Given the description of an element on the screen output the (x, y) to click on. 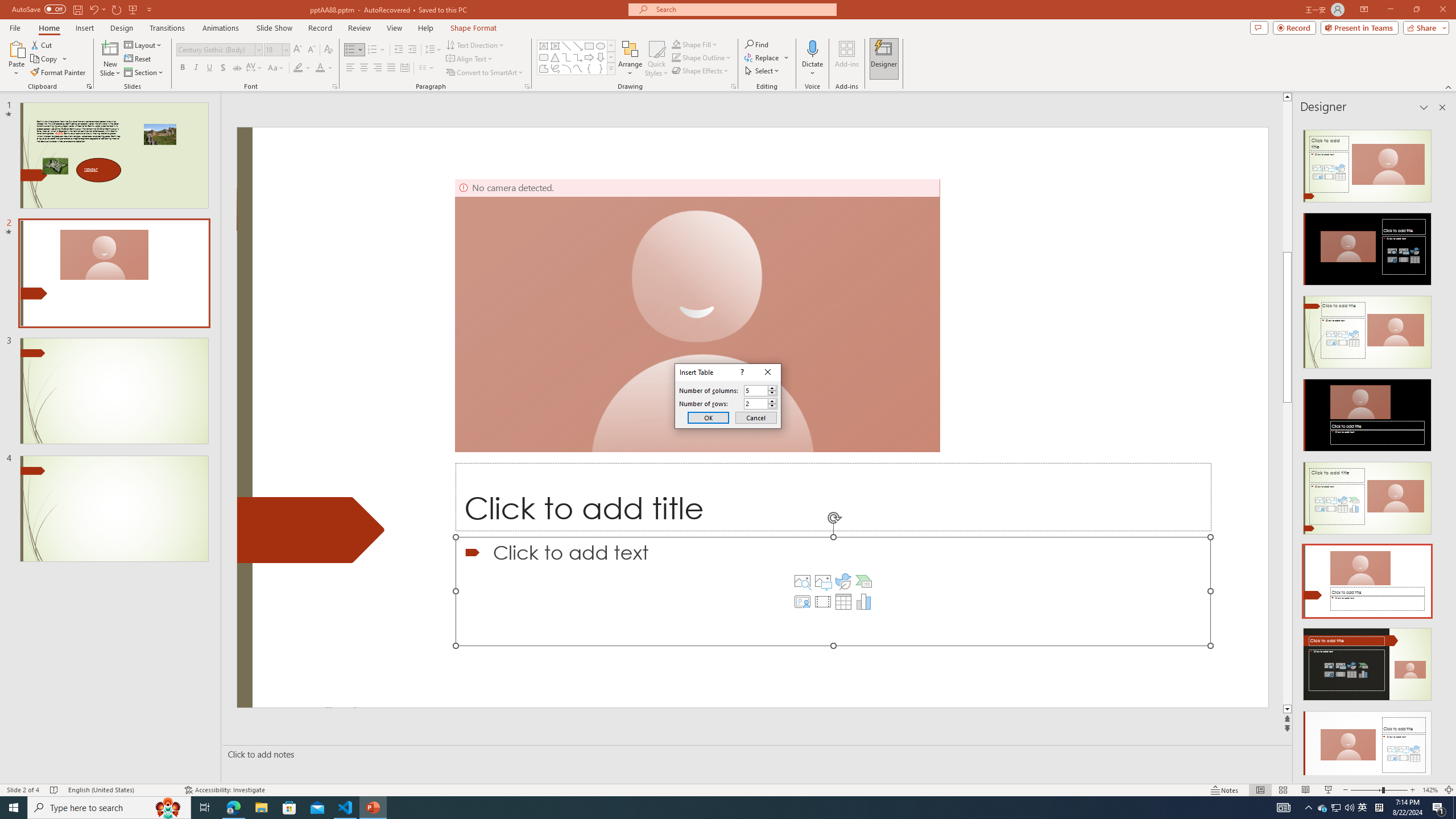
Number of rows (760, 403)
